Given the description of an element on the screen output the (x, y) to click on. 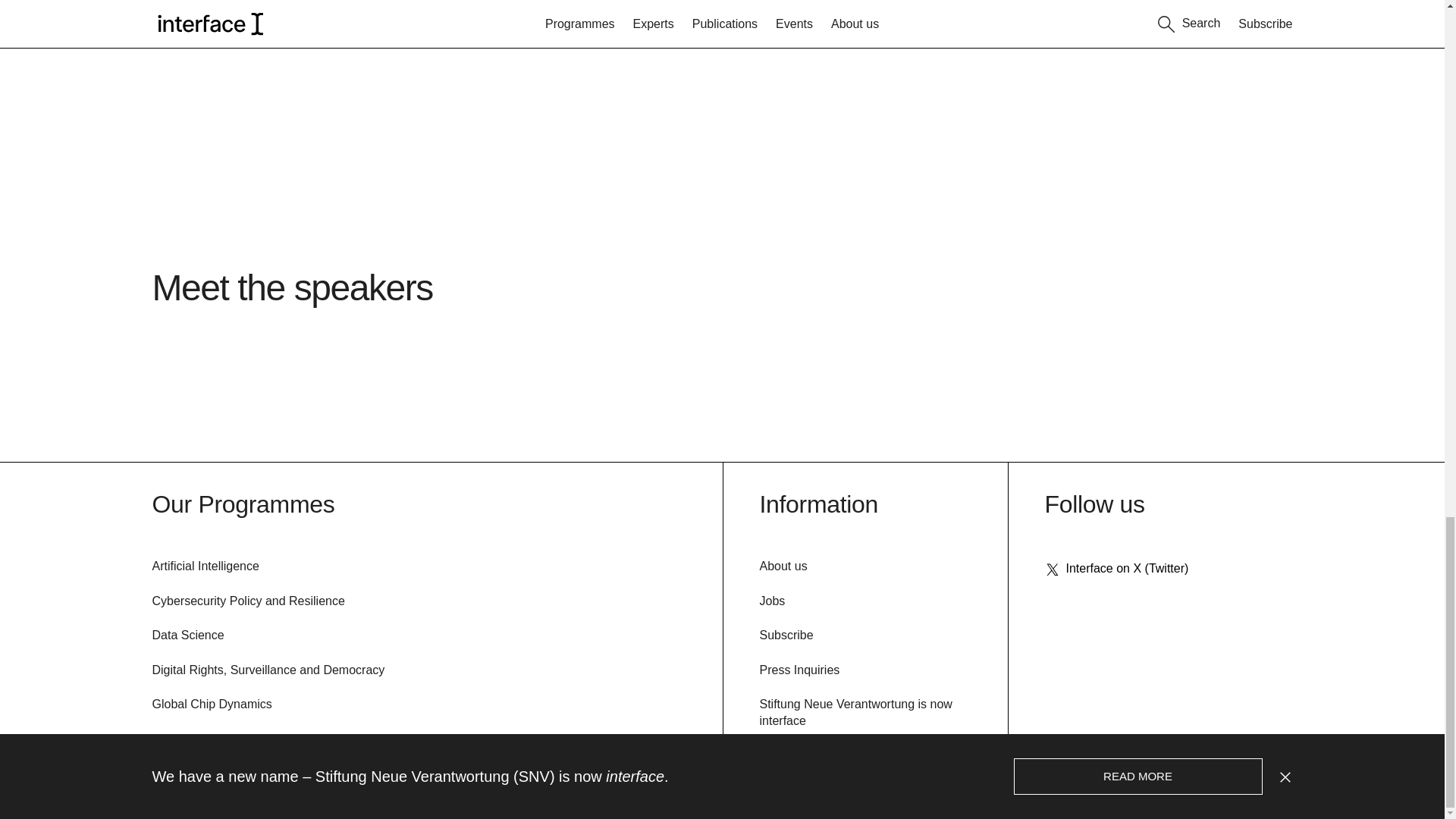
Jobs (773, 601)
Digital Rights, Surveillance and Democracy (267, 670)
Subscribe (786, 635)
About us (784, 566)
Data Science (187, 635)
Stiftung Neue Verantwortung is now interface (856, 713)
Global Chip Dynamics (210, 704)
Artificial Intelligence (205, 566)
Cybersecurity Policy and Resilience (247, 601)
